Given the description of an element on the screen output the (x, y) to click on. 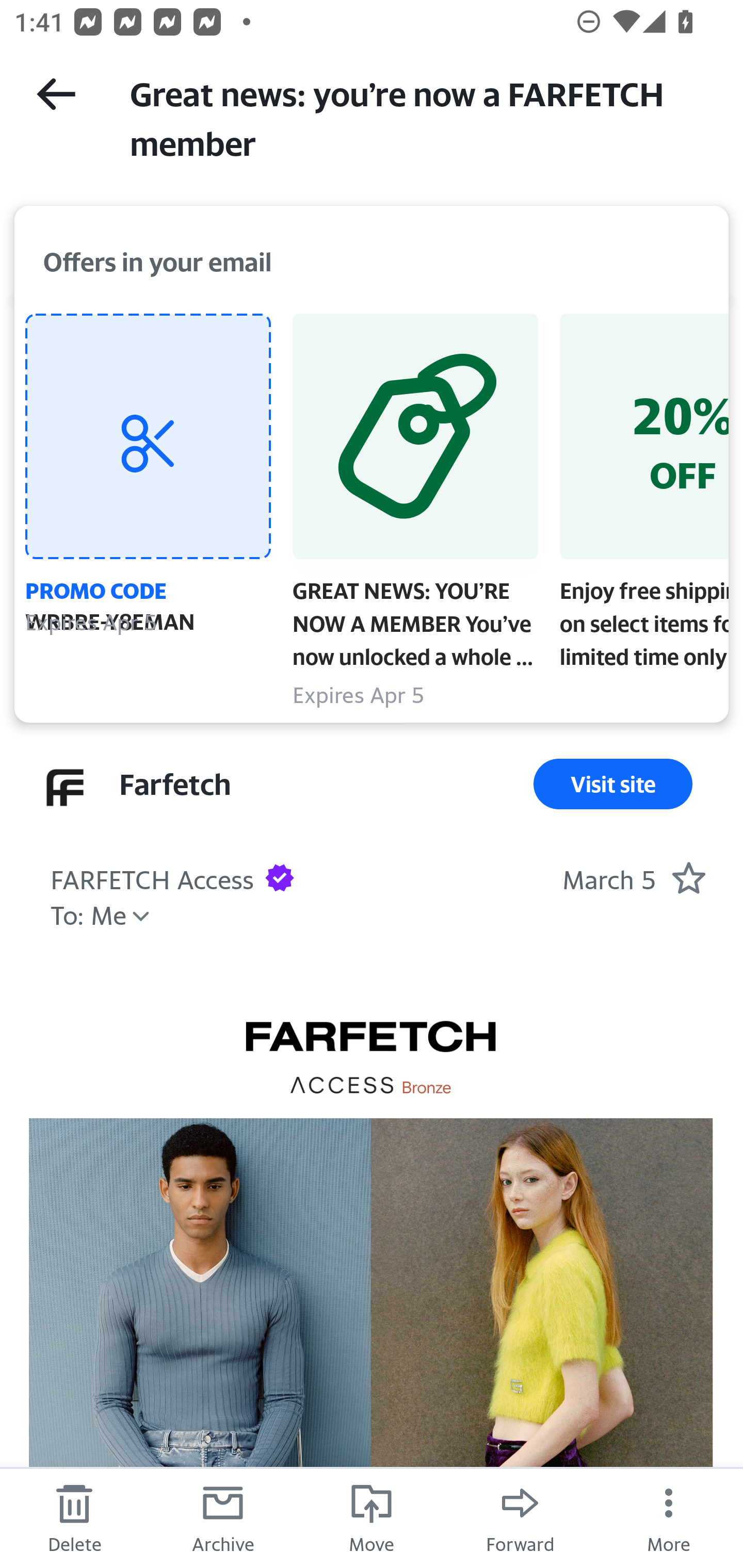
Back (55, 93)
Great news: you’re now a FARFETCH member (418, 116)
View all messages from sender (64, 787)
Visit site Visit Site Link (612, 783)
Farfetch Sender Farfetch (174, 783)
FARFETCH Access Sender FARFETCH Access (152, 877)
Mark as starred. (688, 877)
FARFETCH (370, 1058)
Delete (74, 1517)
Archive (222, 1517)
Move (371, 1517)
Forward (519, 1517)
More (668, 1517)
